Given the description of an element on the screen output the (x, y) to click on. 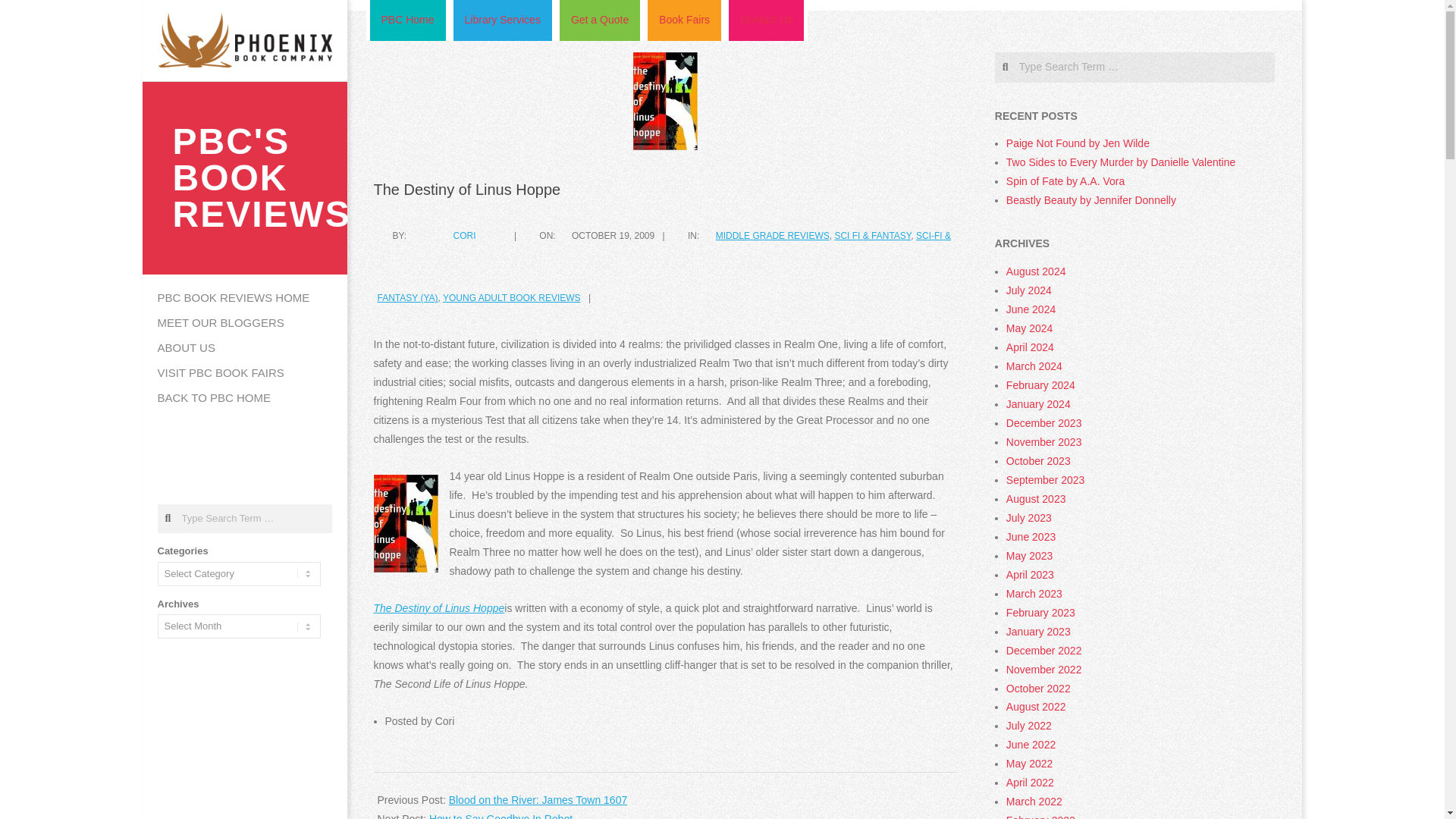
March 2024 (1034, 366)
Library Services (502, 19)
Monday, October 19, 2009, 9:14 pm (612, 235)
Contact Us (765, 19)
February 2024 (1040, 385)
Get a Quote (599, 19)
May 2024 (1029, 328)
April 2024 (1030, 346)
September 2023 (1045, 480)
MIDDLE GRADE REVIEWS (772, 235)
CORI (465, 235)
June 2024 (1030, 309)
PBC BOOK REVIEWS HOME (244, 298)
Two Sides to Every Murder by Danielle Valentine (1120, 162)
Spin of Fate by A.A. Vora (1065, 181)
